Given the description of an element on the screen output the (x, y) to click on. 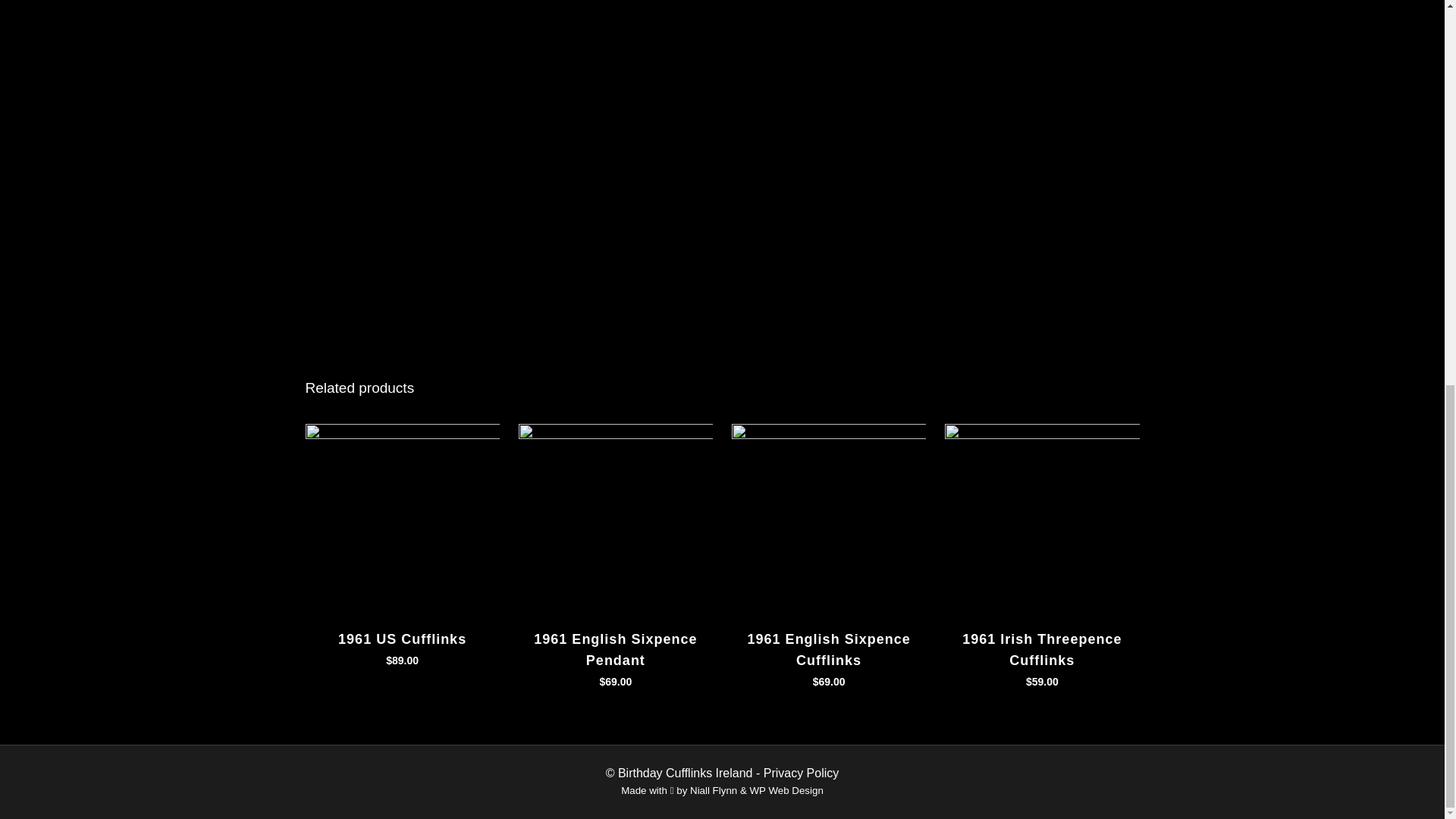
WP Web Design (786, 790)
Privacy Policy (801, 772)
Niall Flynn (713, 790)
